Given the description of an element on the screen output the (x, y) to click on. 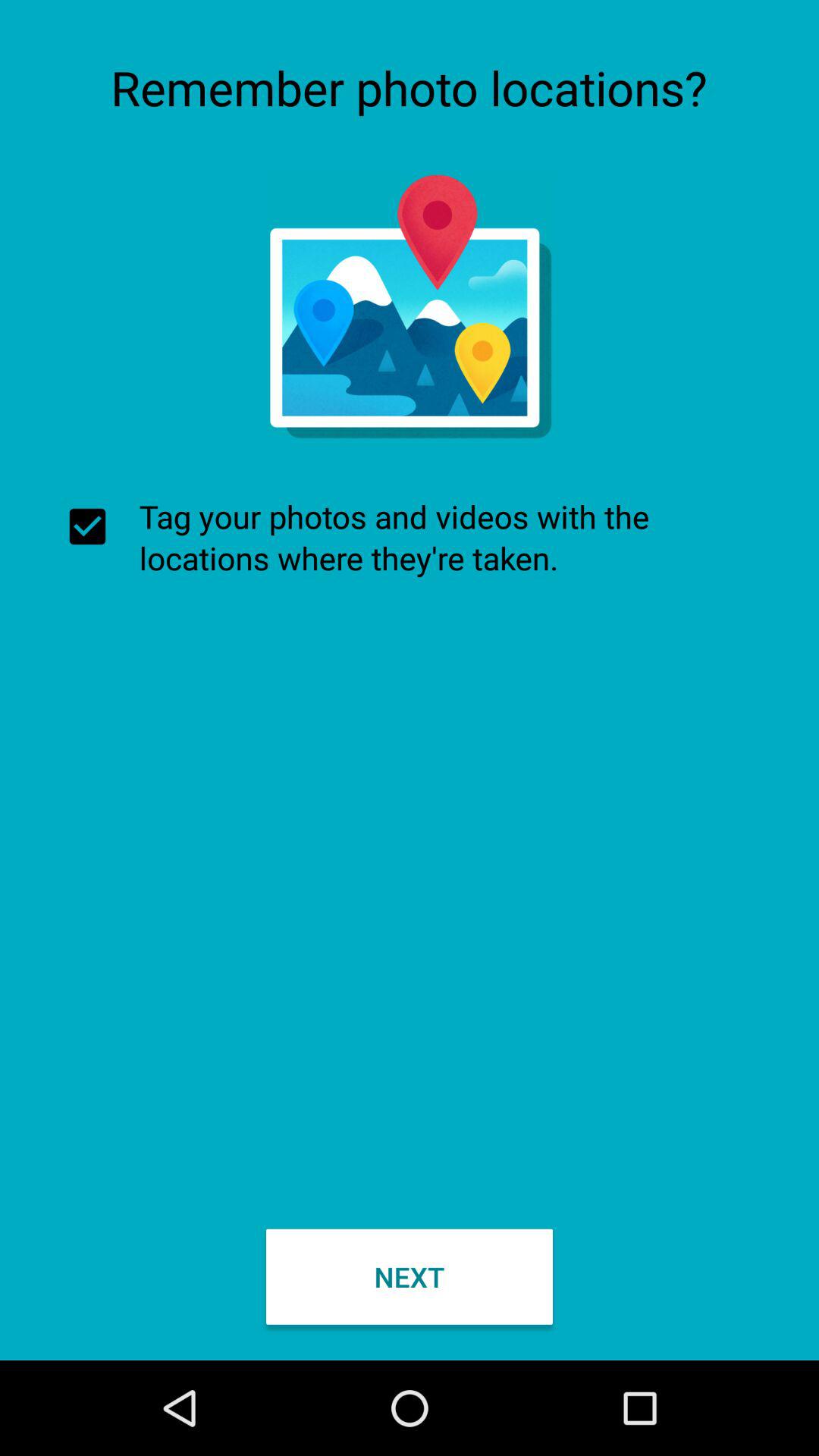
click the item above the next item (409, 536)
